Given the description of an element on the screen output the (x, y) to click on. 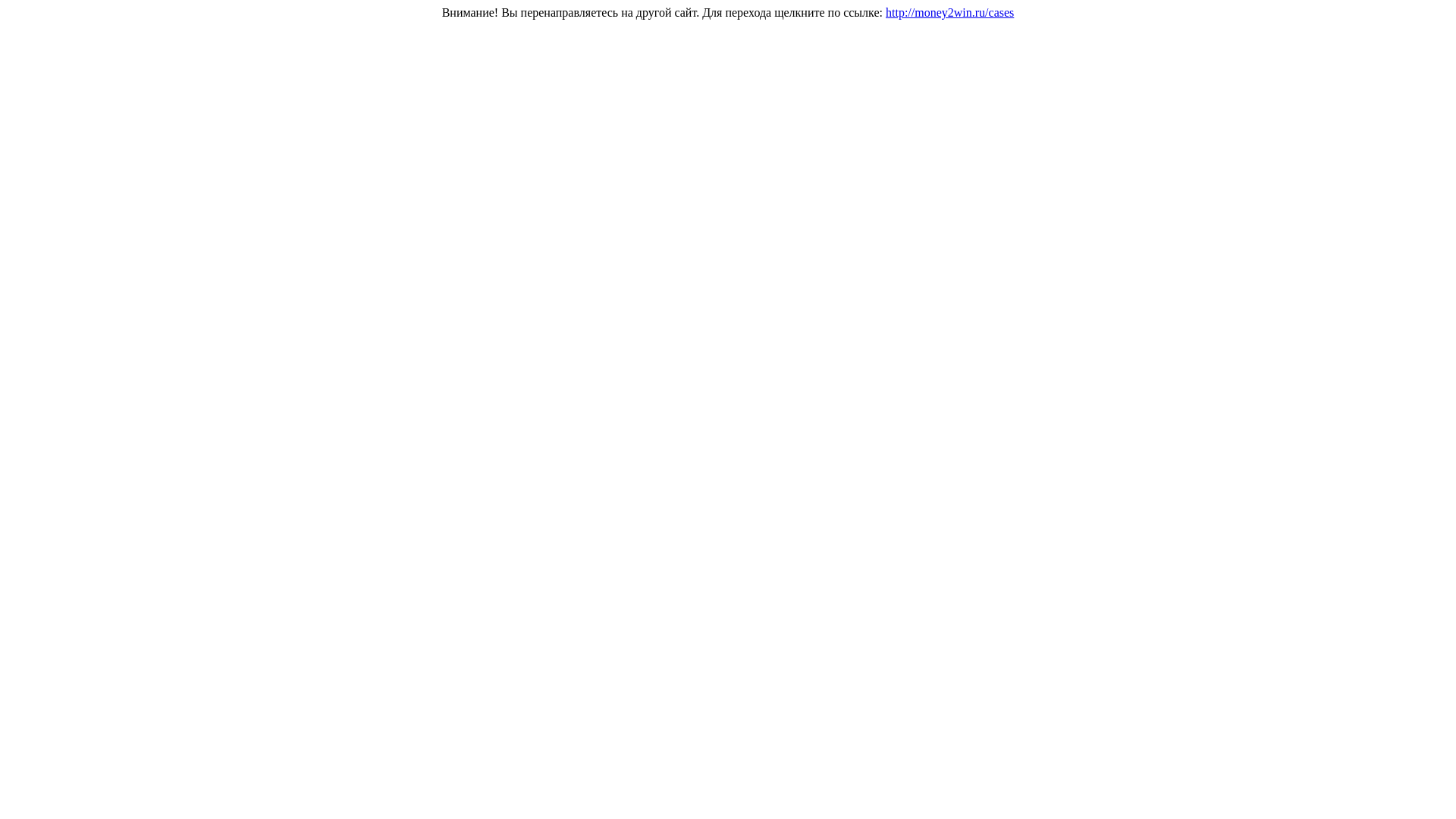
http://money2win.ru/cases Element type: text (949, 12)
